Given the description of an element on the screen output the (x, y) to click on. 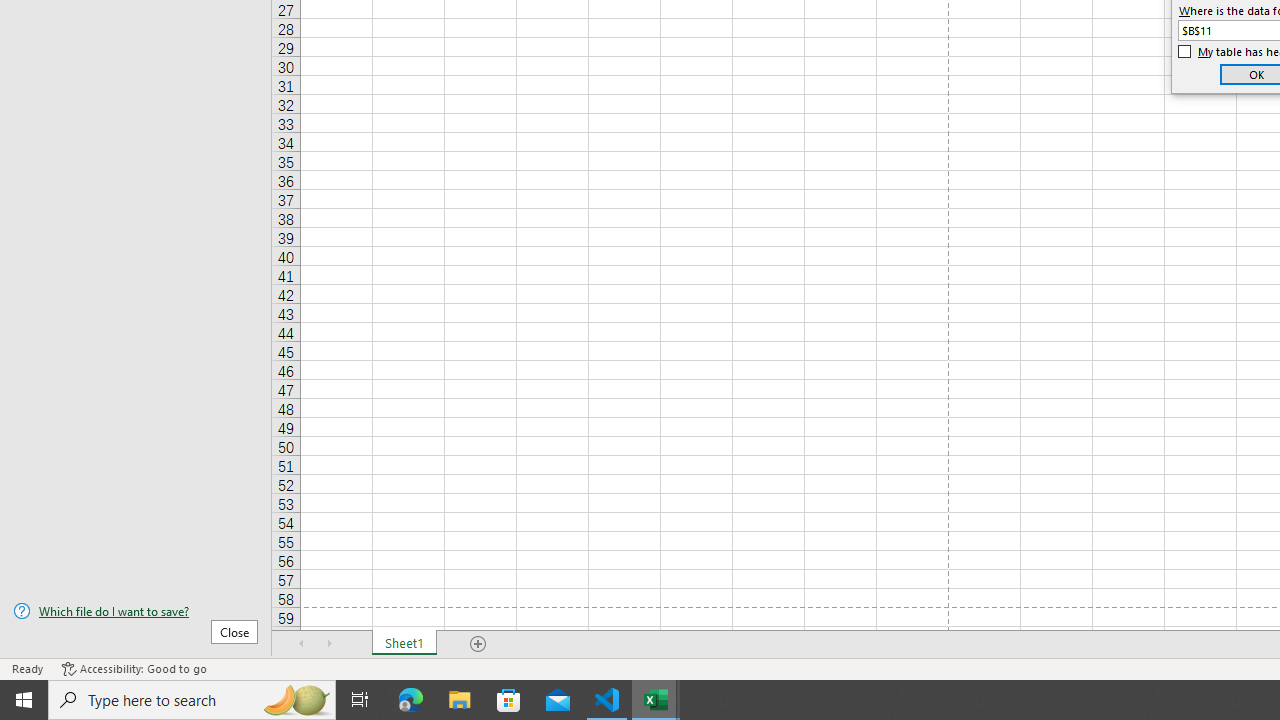
Scroll Left (302, 644)
Which file do I want to save? (136, 611)
Sheet1 (404, 644)
Accessibility Checker Accessibility: Good to go (134, 668)
Scroll Right (330, 644)
Add Sheet (478, 644)
Close (234, 631)
